Given the description of an element on the screen output the (x, y) to click on. 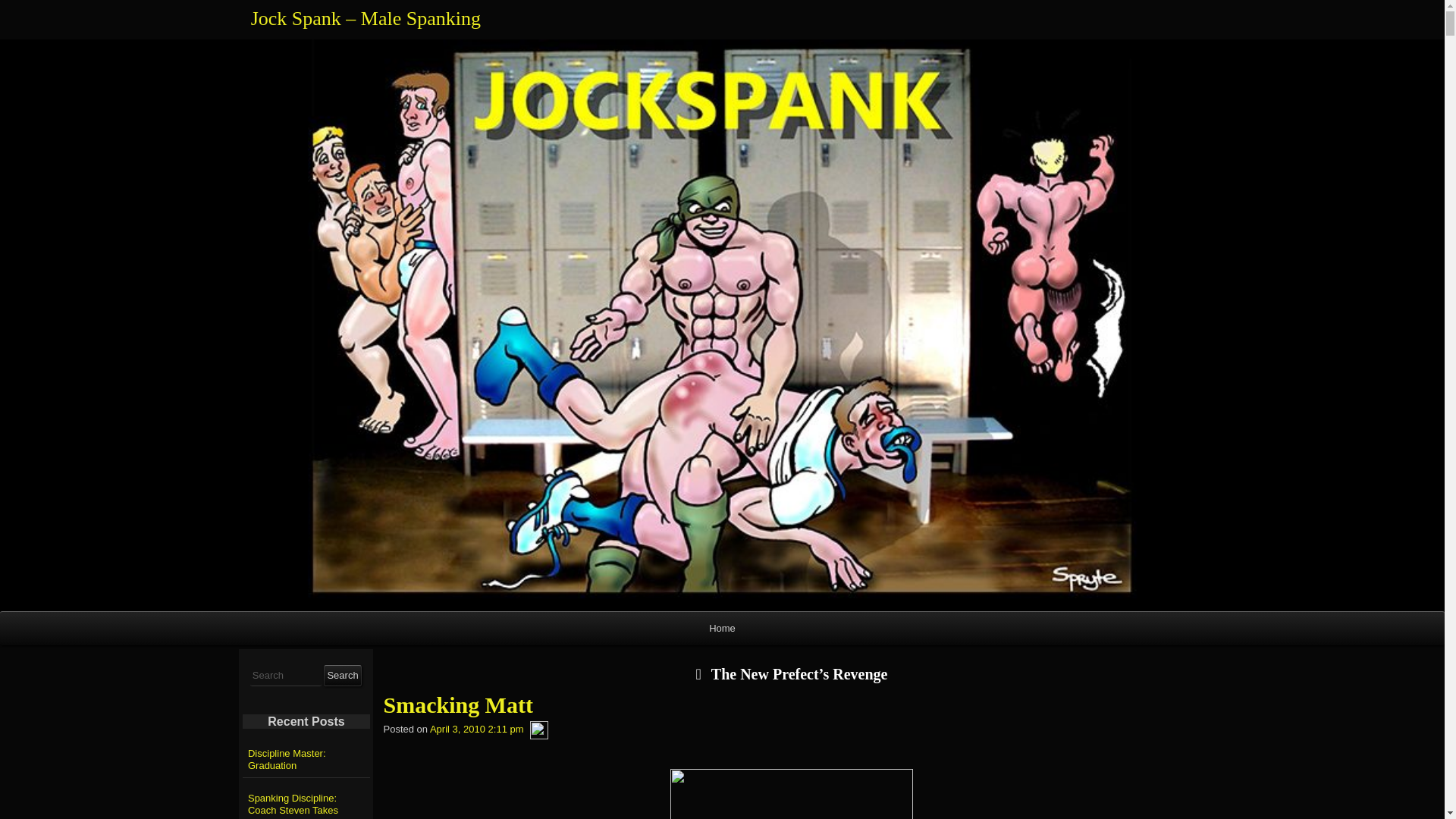
Search (342, 675)
April 3, 2010 2:11 pm (476, 729)
Smacking Matt (791, 705)
Home (721, 628)
Ward (538, 729)
